Given the description of an element on the screen output the (x, y) to click on. 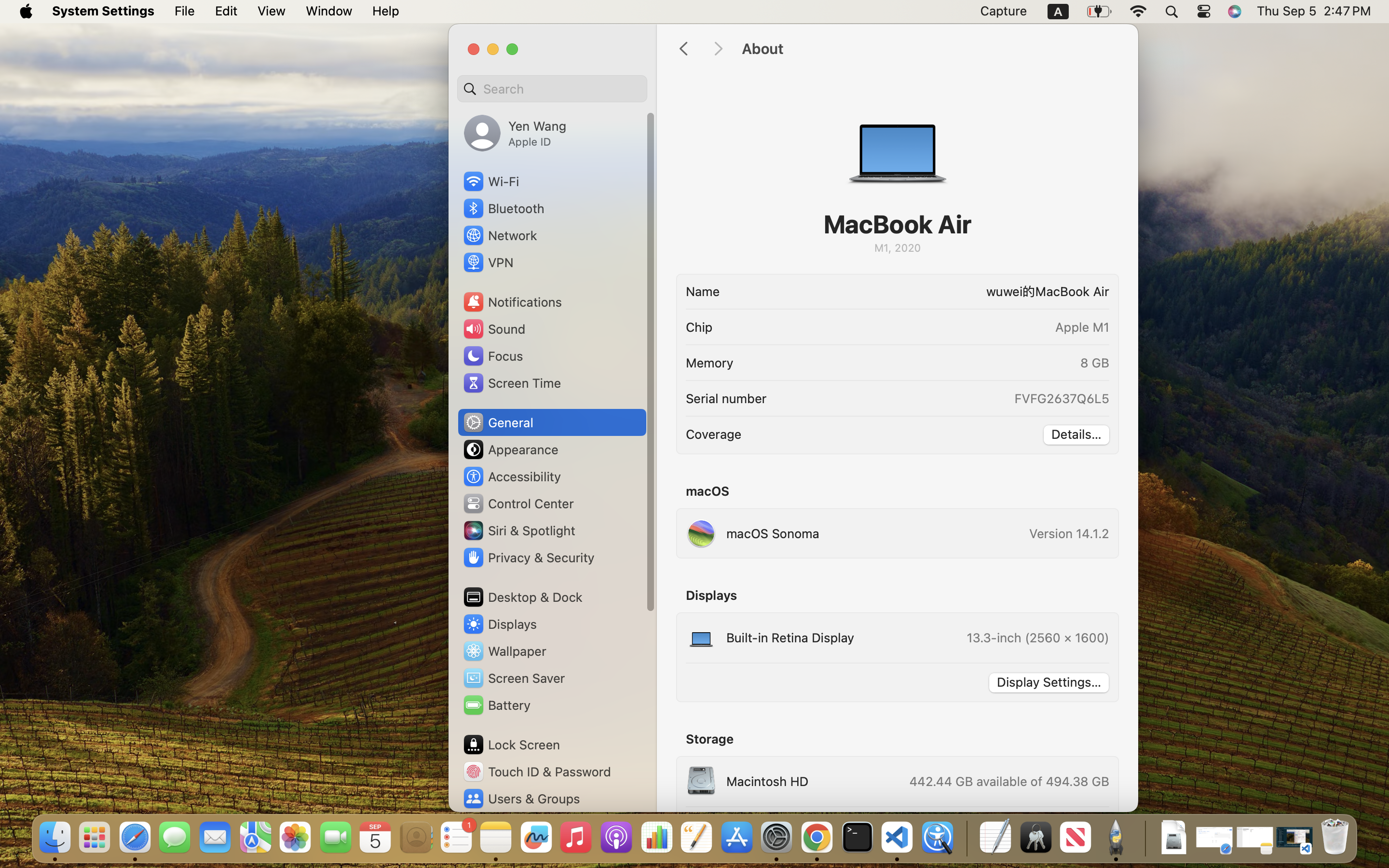
Desktop & Dock Element type: AXStaticText (522, 596)
Lock Screen Element type: AXStaticText (511, 744)
VPN Element type: AXStaticText (487, 261)
Bluetooth Element type: AXStaticText (503, 207)
Siri & Spotlight Element type: AXStaticText (518, 530)
